Given the description of an element on the screen output the (x, y) to click on. 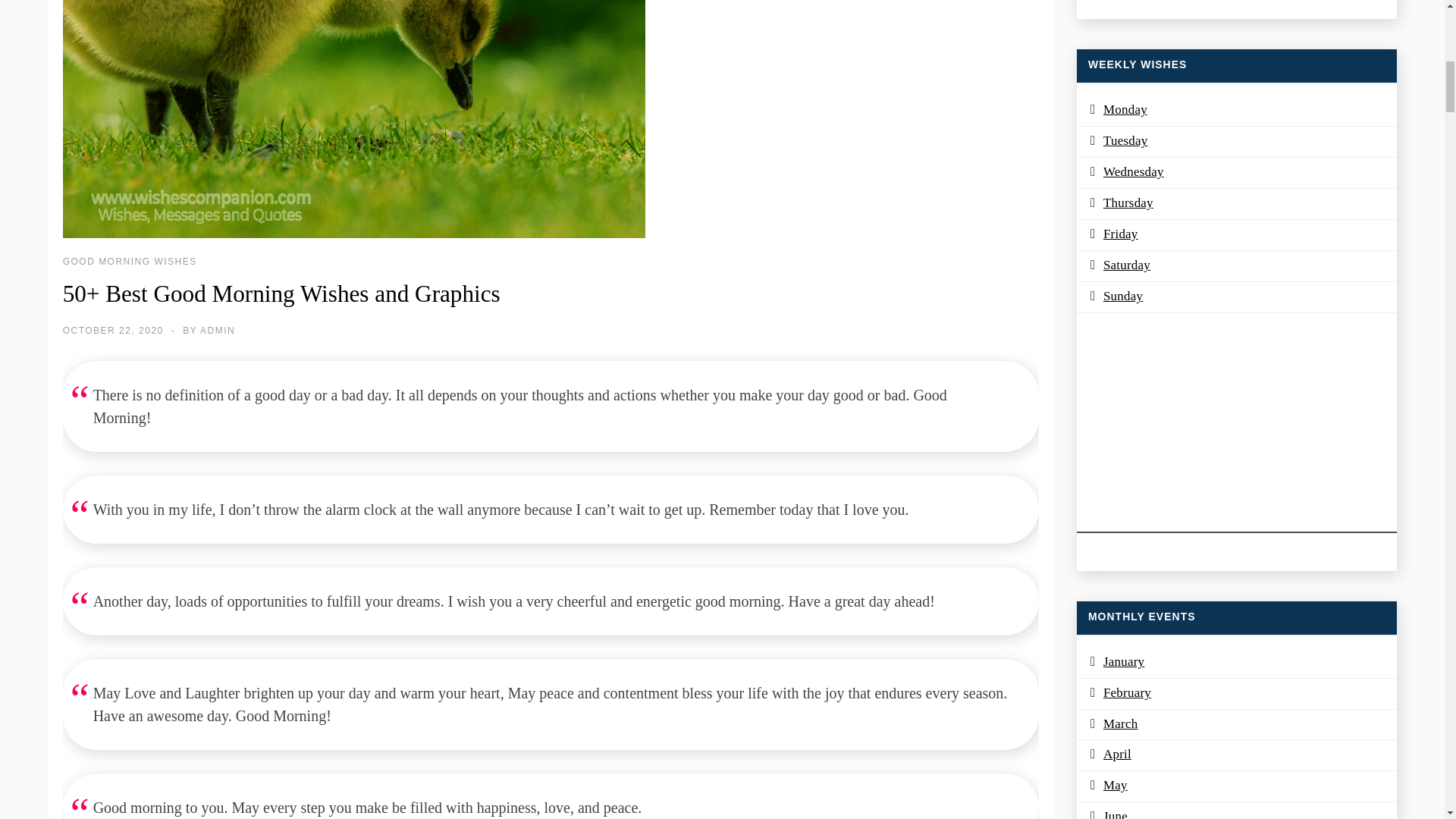
Advertisement (1236, 427)
ADMIN (217, 330)
OCTOBER 22, 2020 (112, 330)
GOOD MORNING WISHES (129, 261)
